Given the description of an element on the screen output the (x, y) to click on. 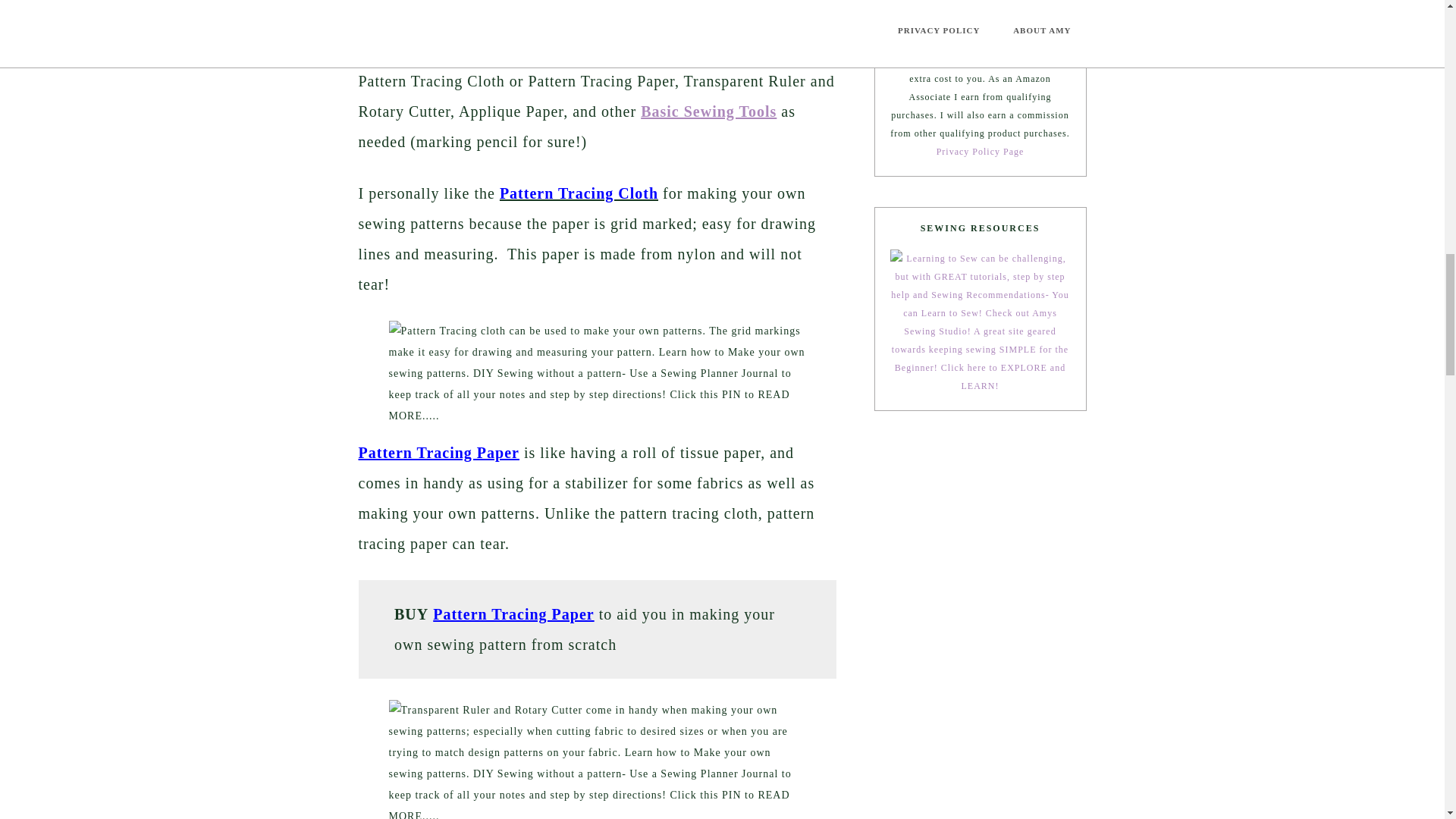
Basic Sewing Tools (708, 111)
Pattern Tracing Cloth (578, 193)
Pattern Tracing Paper (438, 452)
Pattern Tracing Paper (513, 614)
